Given the description of an element on the screen output the (x, y) to click on. 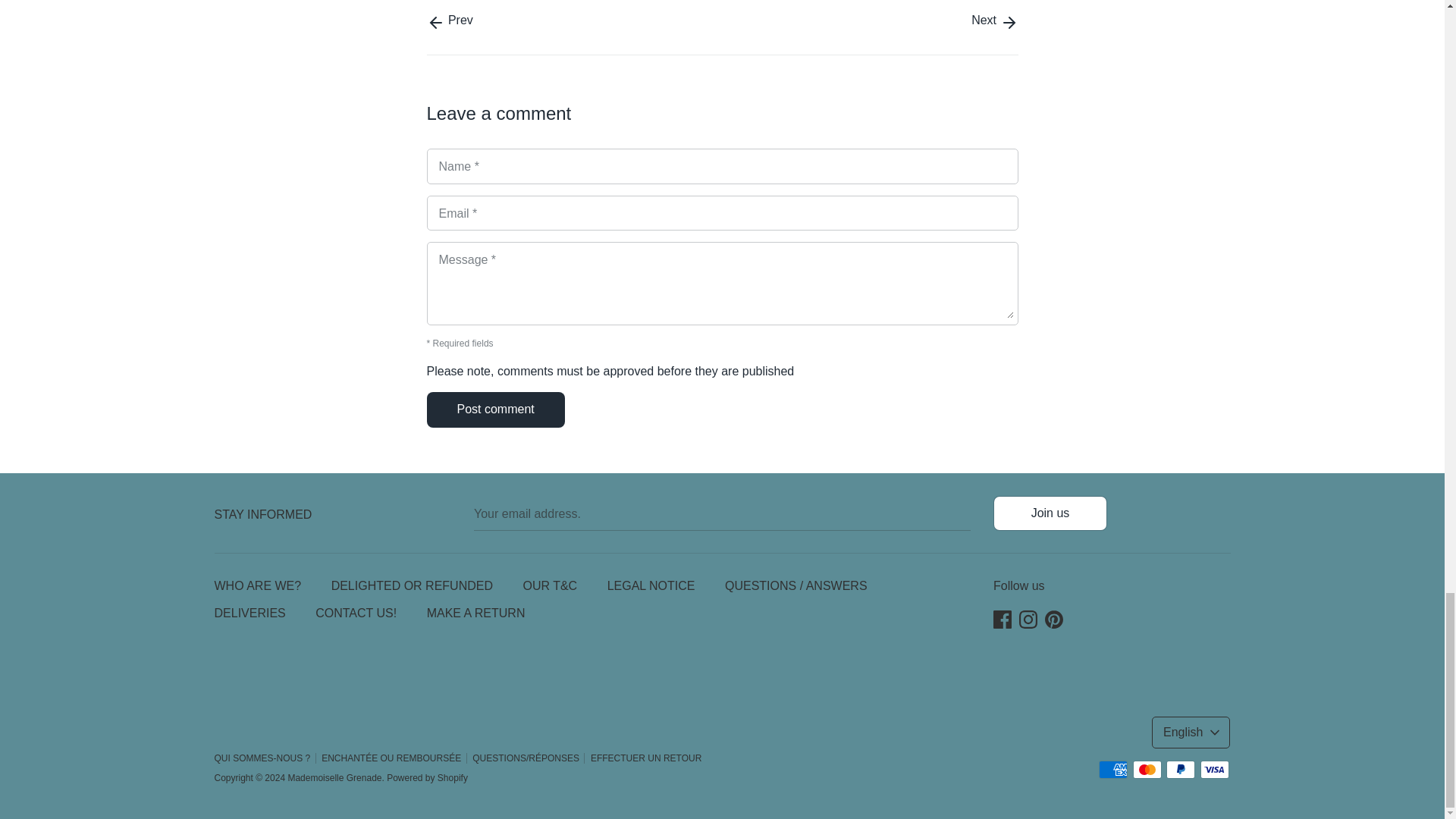
Post comment (496, 409)
Instagram (1027, 616)
Facebook (1001, 616)
Pinterest (1053, 616)
American Express (1112, 769)
